Given the description of an element on the screen output the (x, y) to click on. 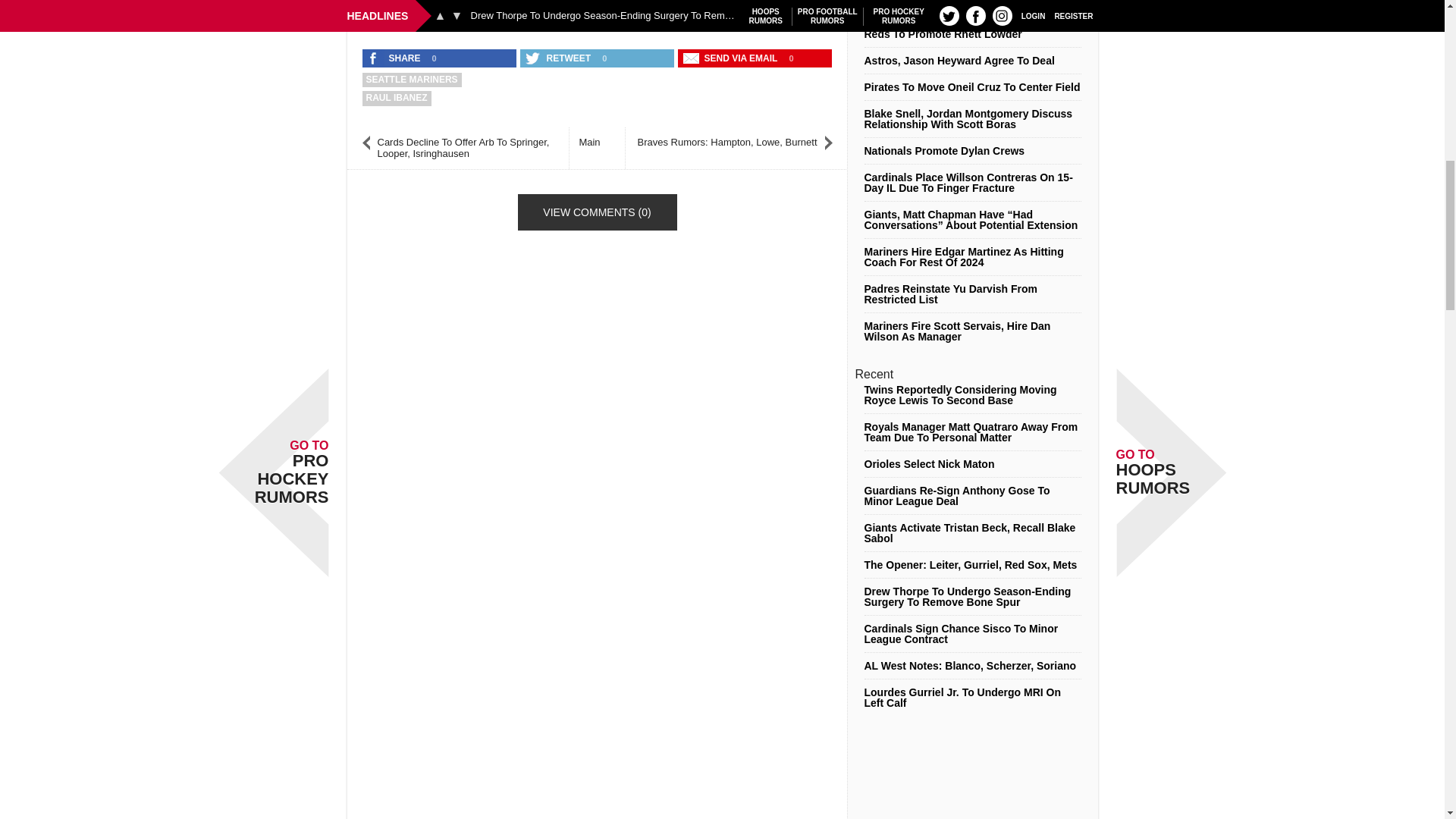
Share 'Mariners Offer Arb To Ibanez' on Facebook (395, 58)
Send Mariners Offer Arb To Ibanez with an email (732, 58)
Retweet 'Mariners Offer Arb To Ibanez' on Twitter (558, 58)
